Given the description of an element on the screen output the (x, y) to click on. 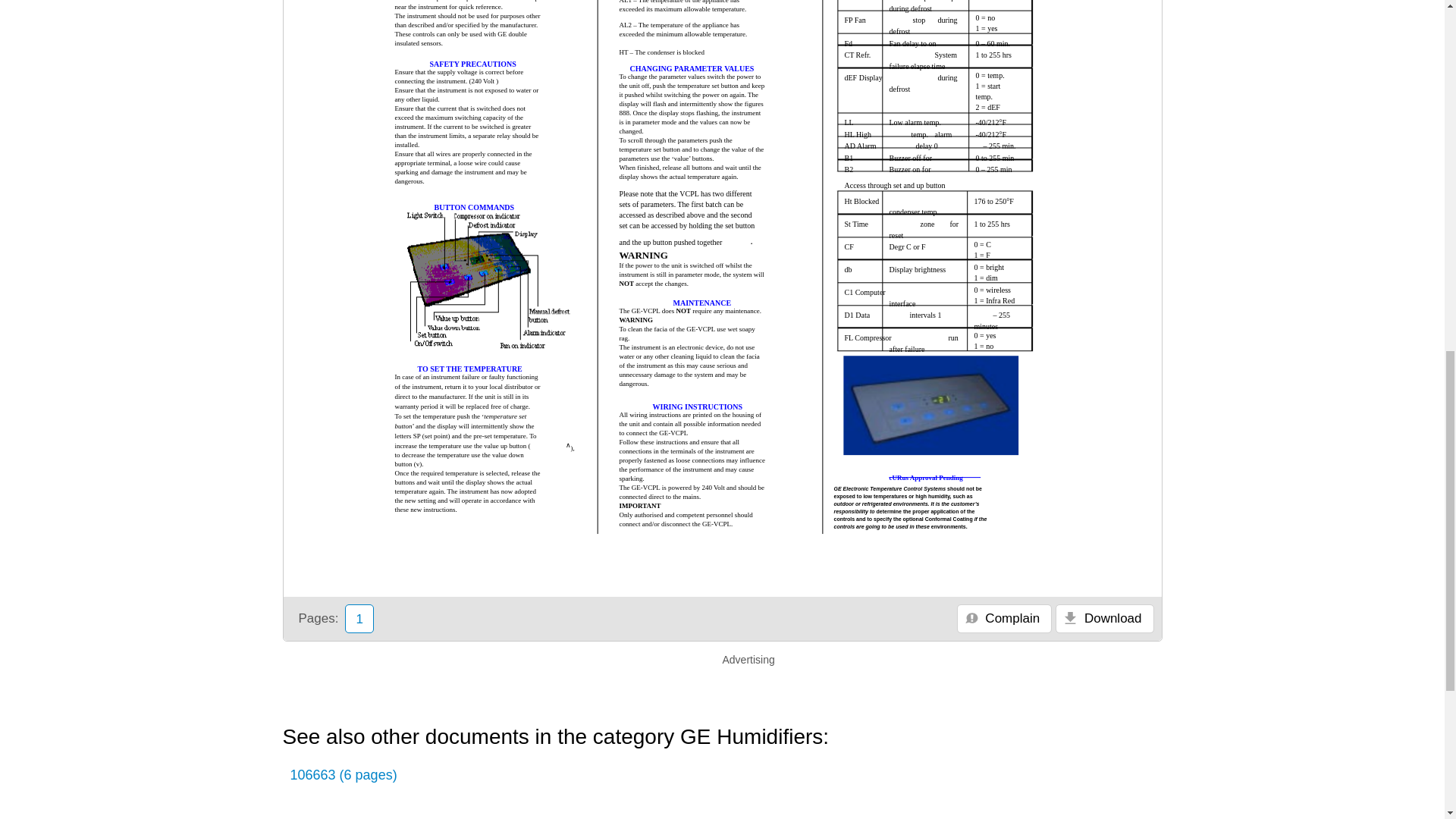
Complain (1004, 618)
Download (1104, 618)
Advertisement (1221, 44)
Report a broken manual (1004, 618)
Advertisement (721, 686)
Download Manual (1104, 618)
